Given the description of an element on the screen output the (x, y) to click on. 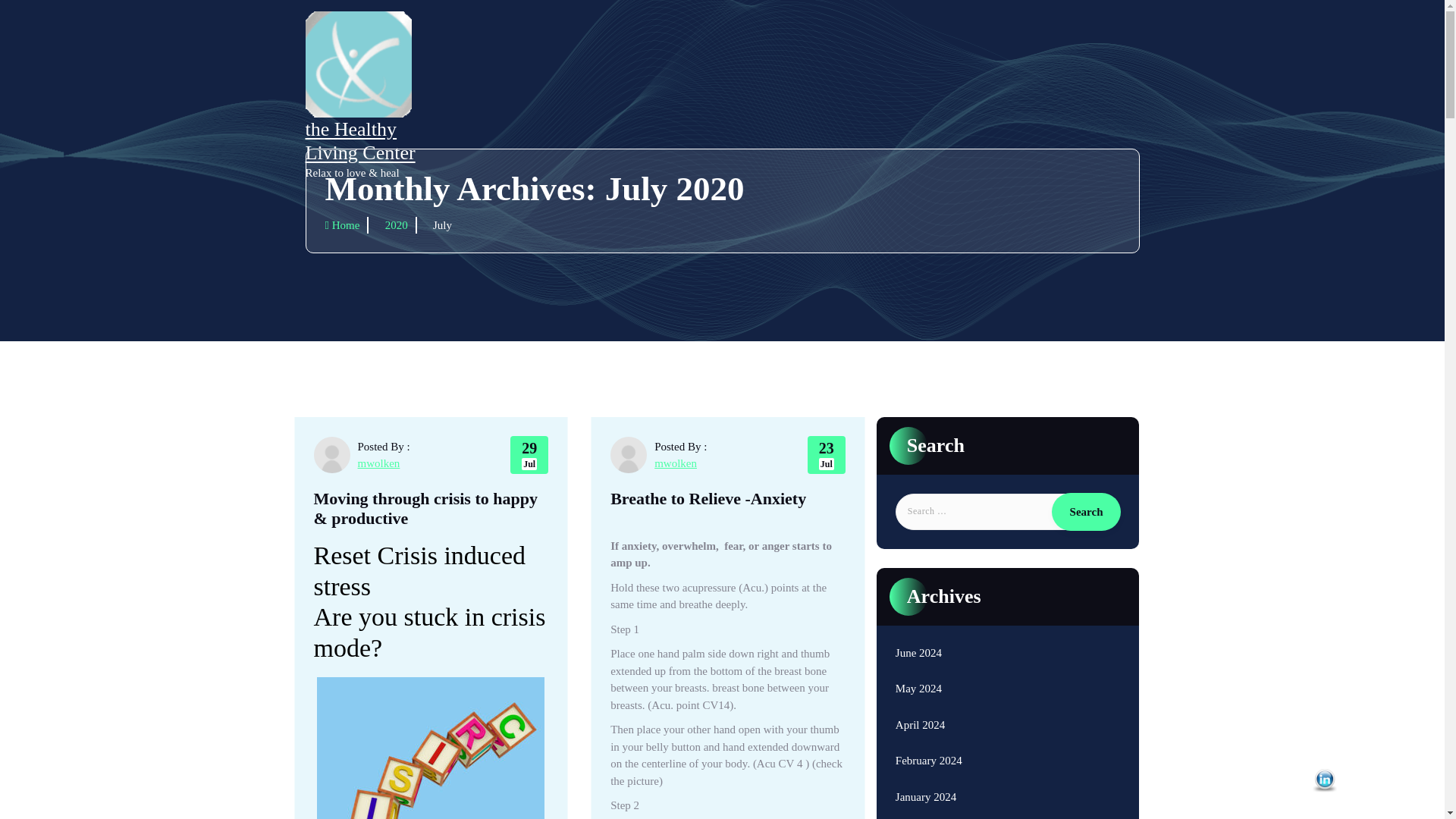
Search (1086, 511)
Breathe to Relieve -Anxiety (708, 498)
May 2024 (918, 688)
Search (1086, 511)
June 2024 (918, 652)
January 2024 (925, 796)
Search (1086, 511)
April 2024 (919, 724)
Home (346, 225)
the Healthy Living Center (364, 140)
